Given the description of an element on the screen output the (x, y) to click on. 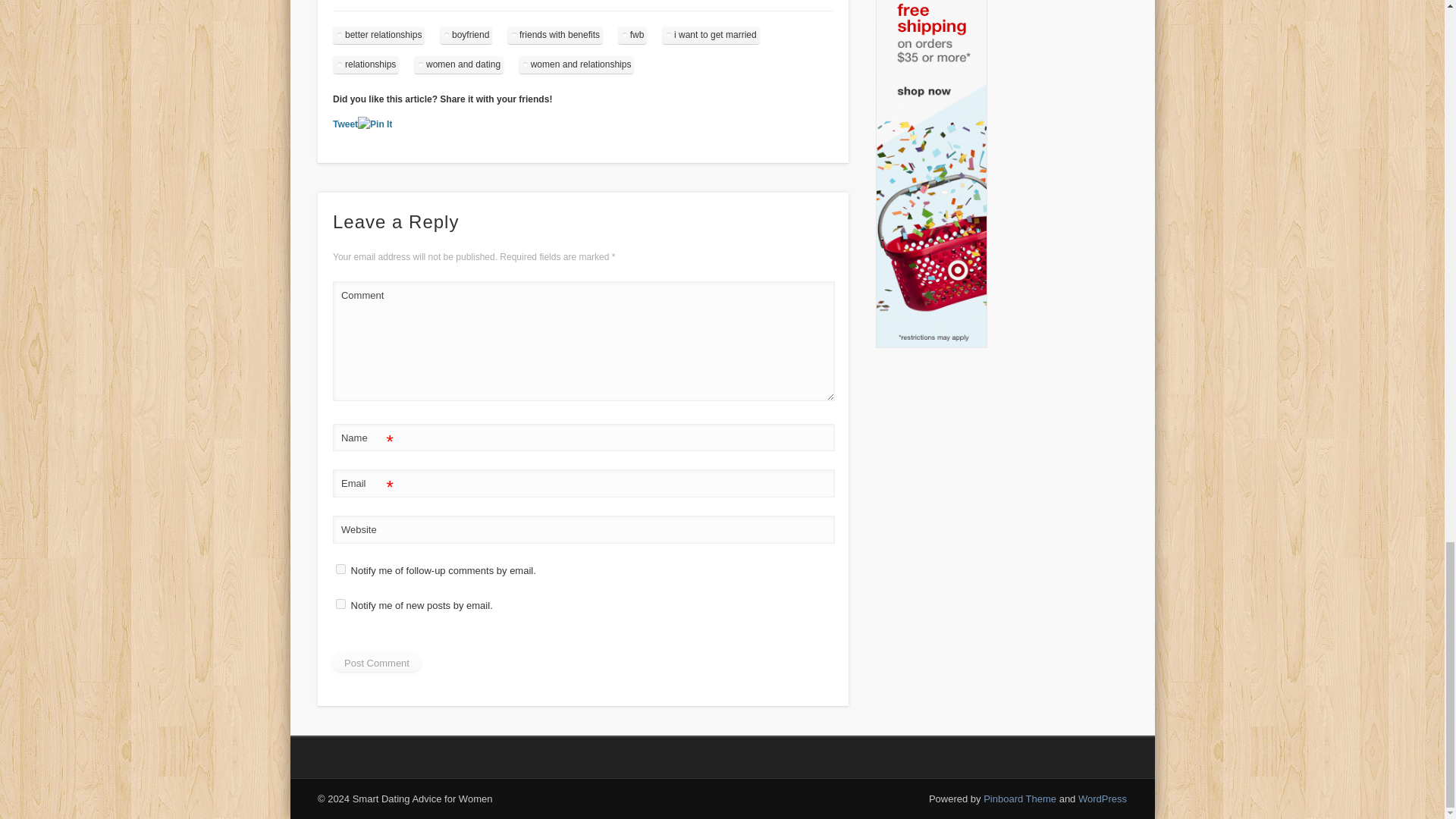
boyfriend (465, 35)
Pin It (374, 124)
subscribe (341, 603)
i want to get married (711, 35)
women and dating (458, 64)
subscribe (341, 569)
Tweet (345, 123)
relationships (365, 64)
better relationships (379, 35)
women and relationships (576, 64)
Pinboard Theme (1020, 798)
fwb (632, 35)
Post Comment (376, 663)
Post Comment (376, 663)
friends with benefits (554, 35)
